Given the description of an element on the screen output the (x, y) to click on. 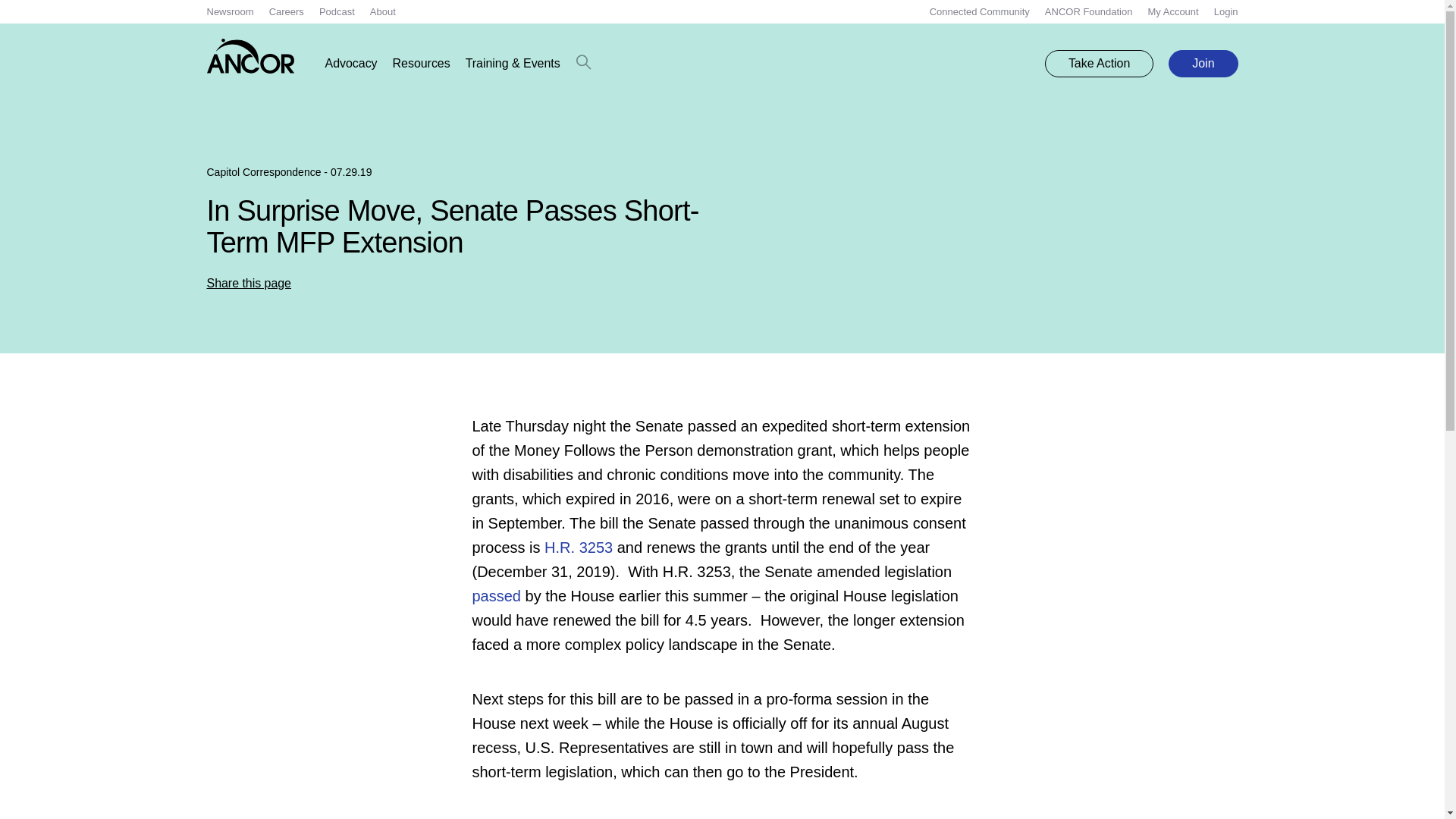
Connected Community (979, 11)
Advocacy (350, 63)
ANCOR Foundation (1088, 11)
Newsroom (229, 11)
Careers (286, 11)
My Account (1172, 11)
About (382, 11)
Join (1203, 62)
Resources (421, 63)
Take Action (1099, 62)
